Given the description of an element on the screen output the (x, y) to click on. 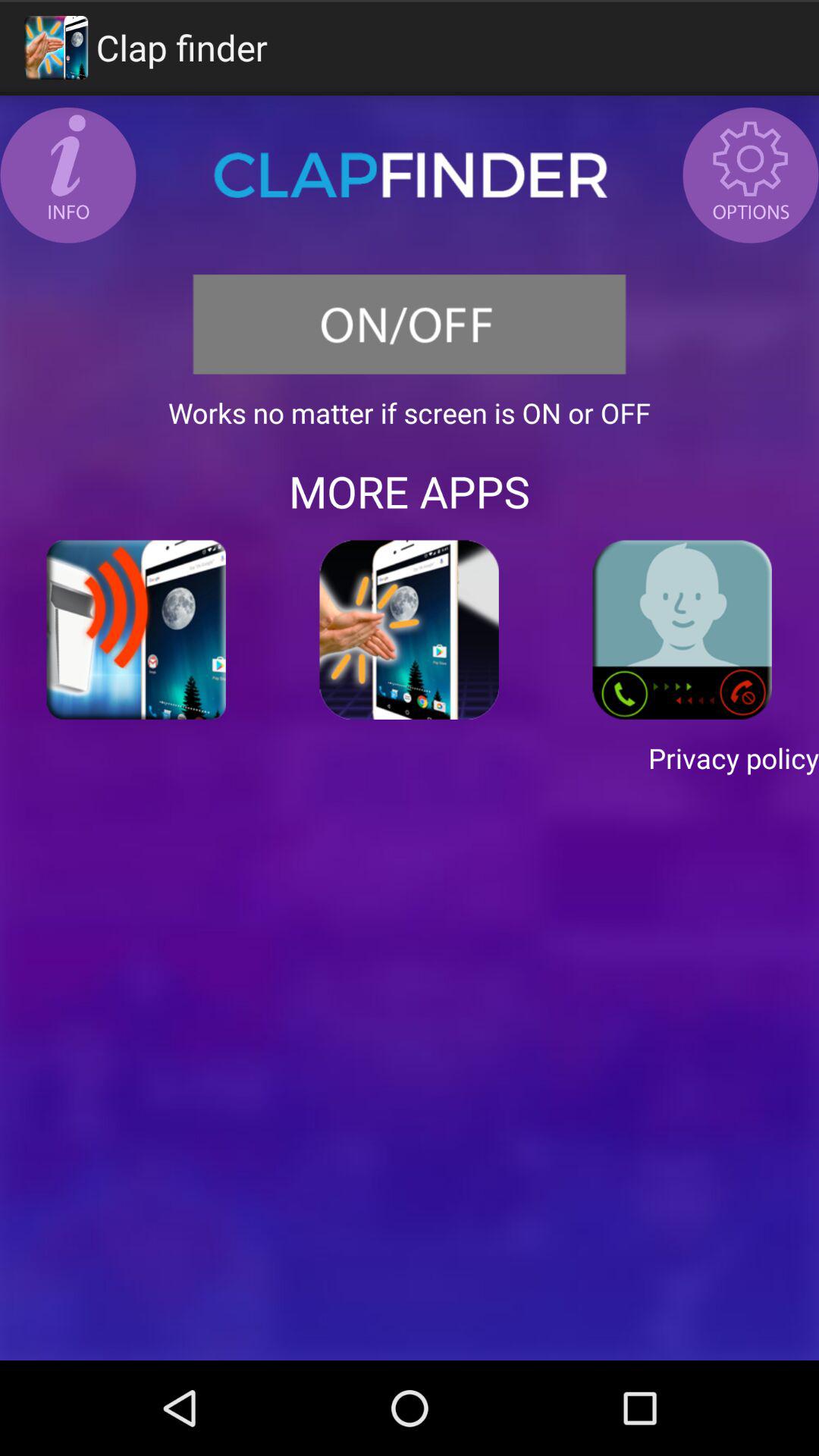
turn on icon on the right (682, 629)
